Given the description of an element on the screen output the (x, y) to click on. 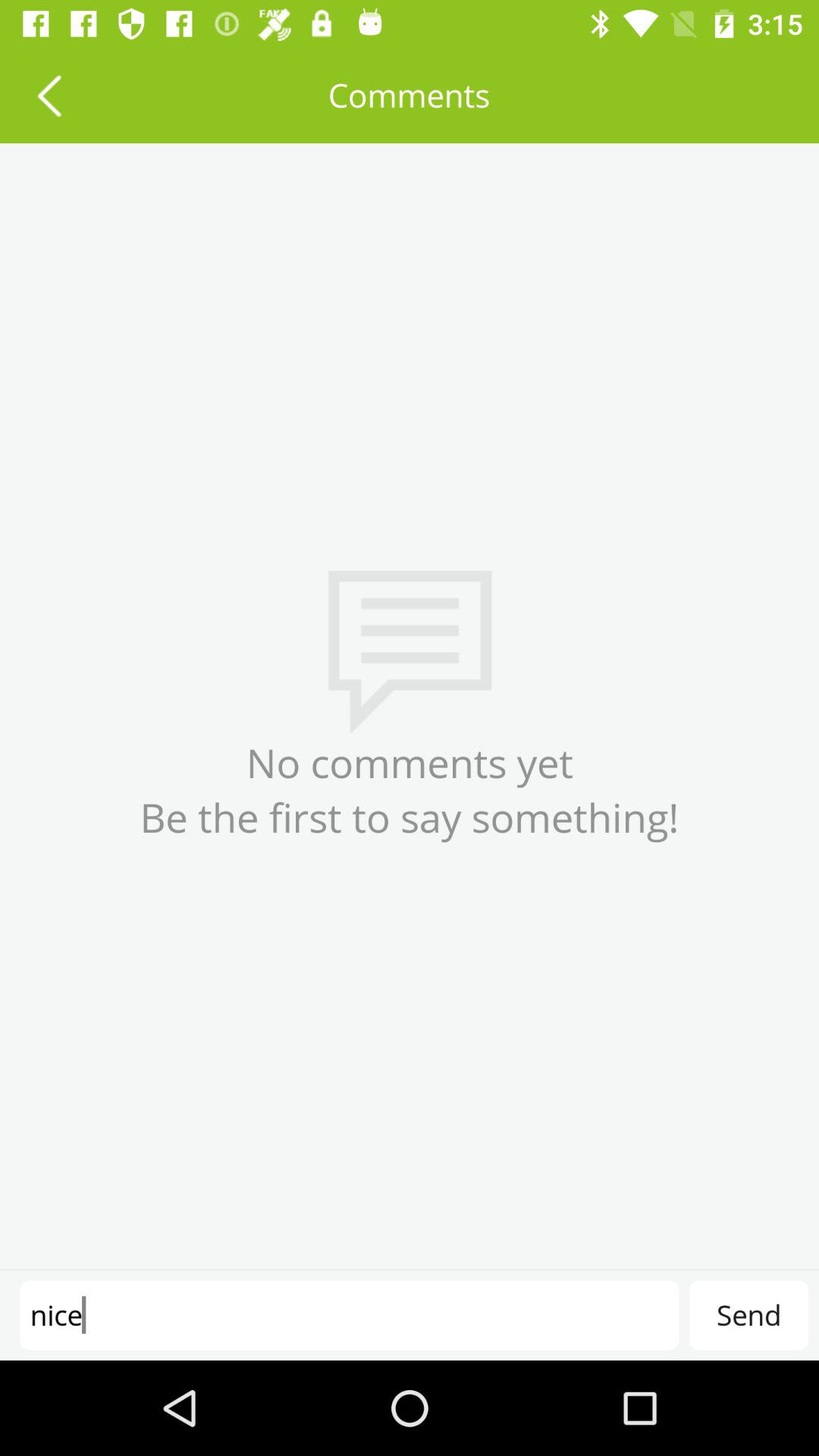
go back (48, 95)
